Given the description of an element on the screen output the (x, y) to click on. 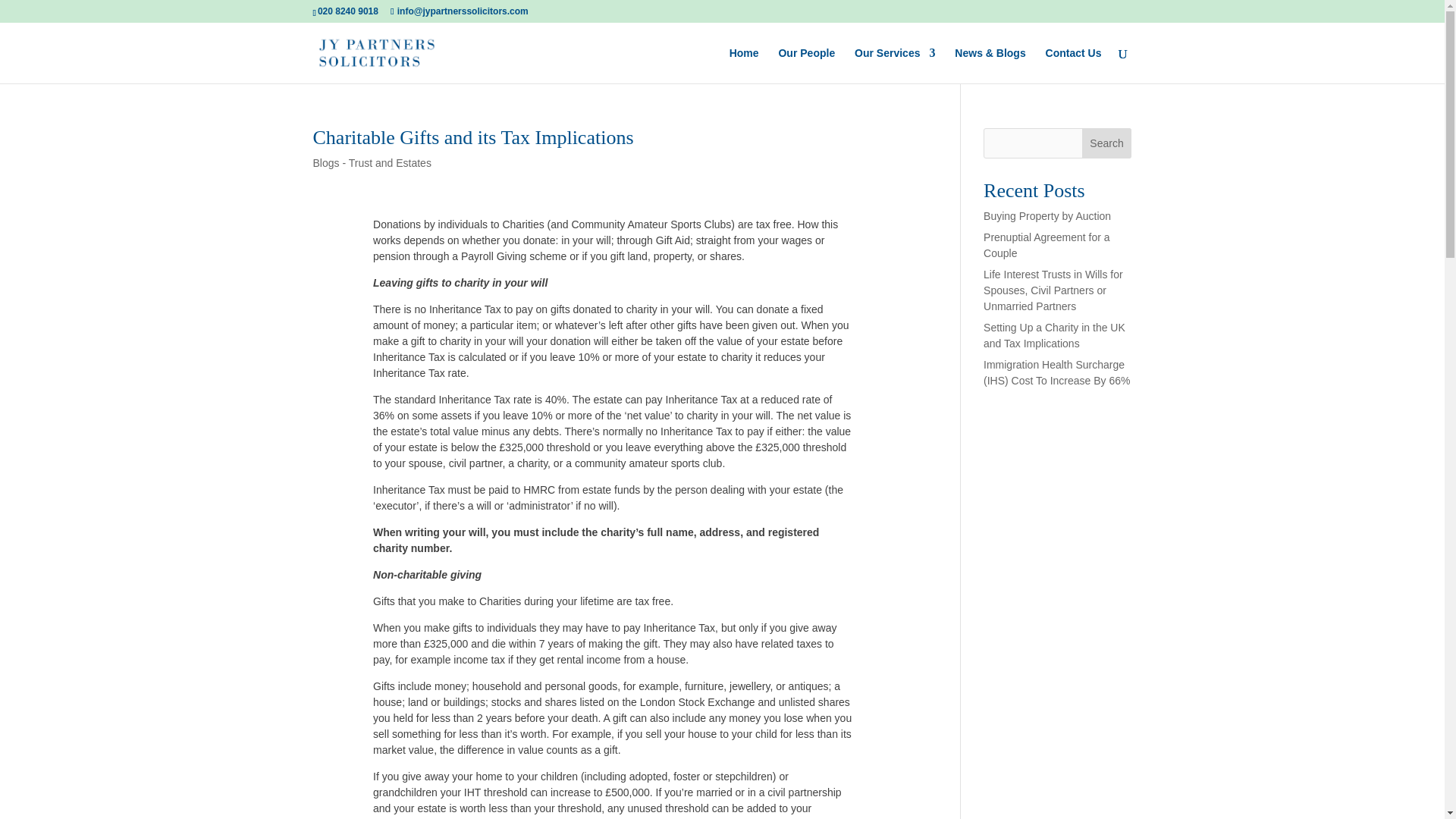
Search (1106, 142)
Prenuptial Agreement for a Couple (1046, 244)
020 8240 9018 (347, 10)
Our People (805, 65)
Buying Property by Auction (1047, 215)
Charitable Gifts and its Tax Implications (473, 137)
Blogs - Trust and Estates (371, 162)
Setting Up a Charity in the UK and Tax Implications (1054, 335)
Our Services (894, 65)
